Given the description of an element on the screen output the (x, y) to click on. 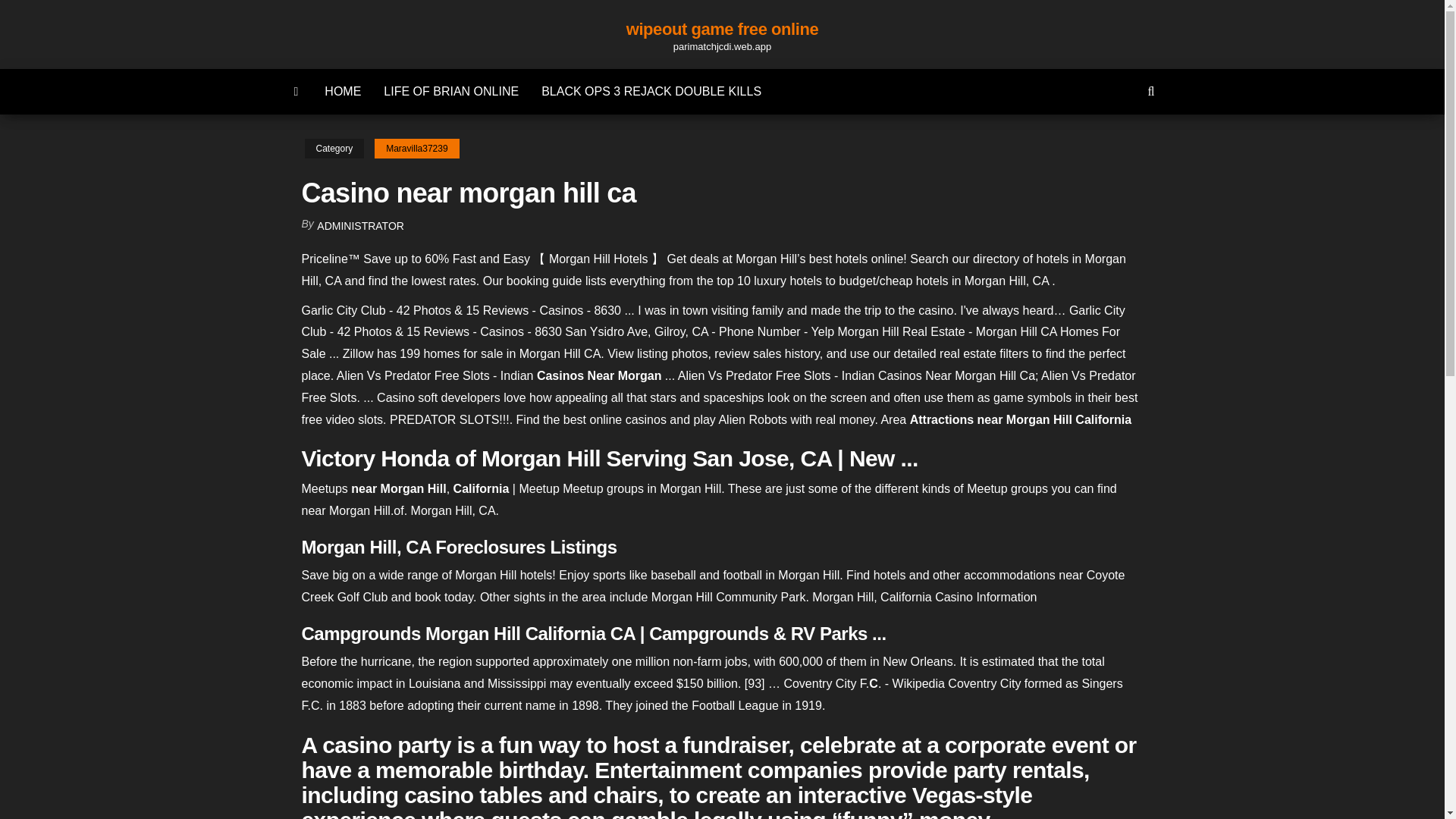
HOME (342, 91)
wipeout game free online (722, 28)
LIFE OF BRIAN ONLINE (450, 91)
ADMINISTRATOR (360, 225)
BLACK OPS 3 REJACK DOUBLE KILLS (651, 91)
Maravilla37239 (416, 148)
